Given the description of an element on the screen output the (x, y) to click on. 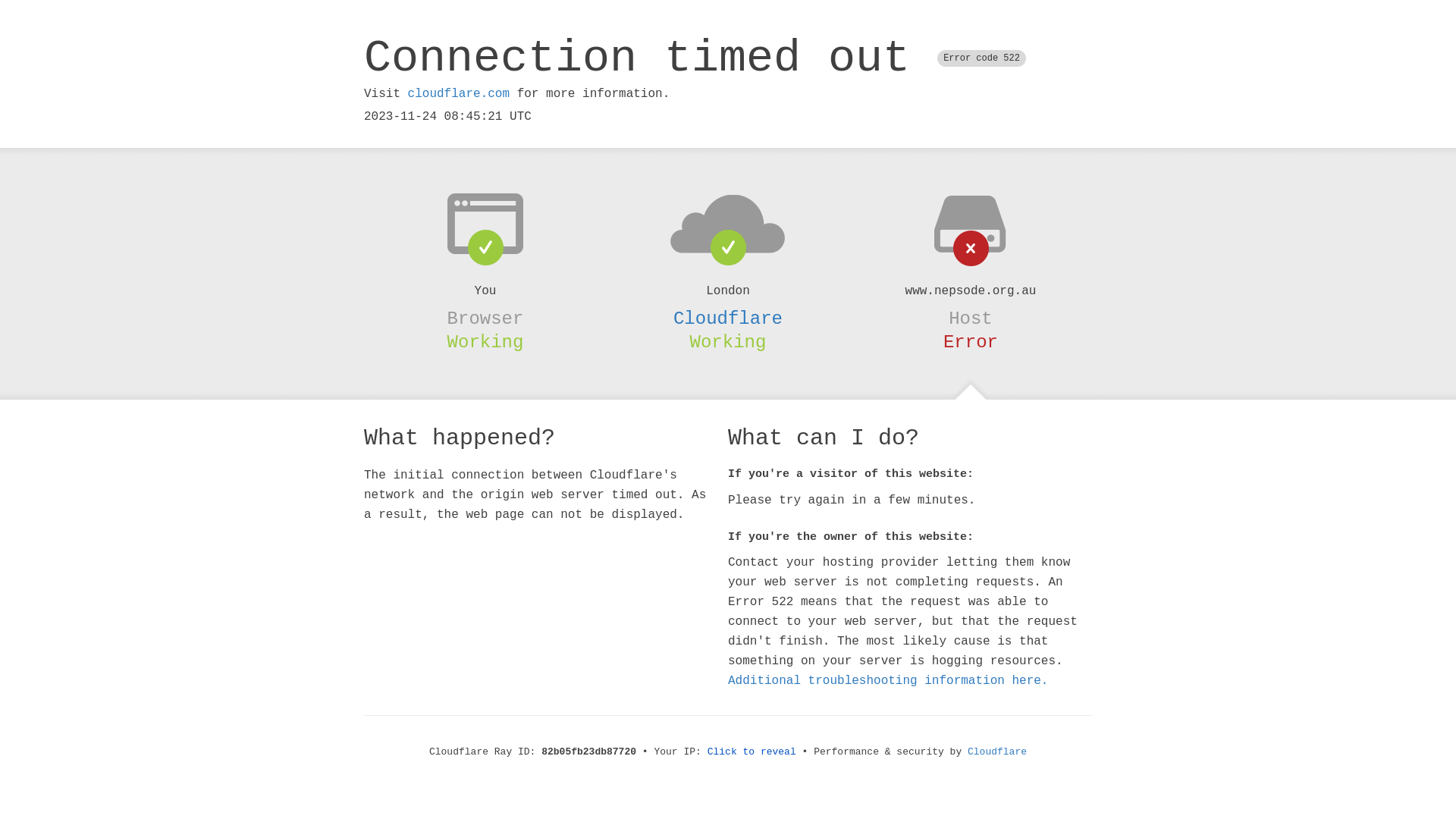
Click to reveal Element type: text (751, 751)
Cloudflare Element type: text (996, 751)
Additional troubleshooting information here. Element type: text (888, 680)
cloudflare.com Element type: text (458, 93)
Cloudflare Element type: text (727, 318)
